Given the description of an element on the screen output the (x, y) to click on. 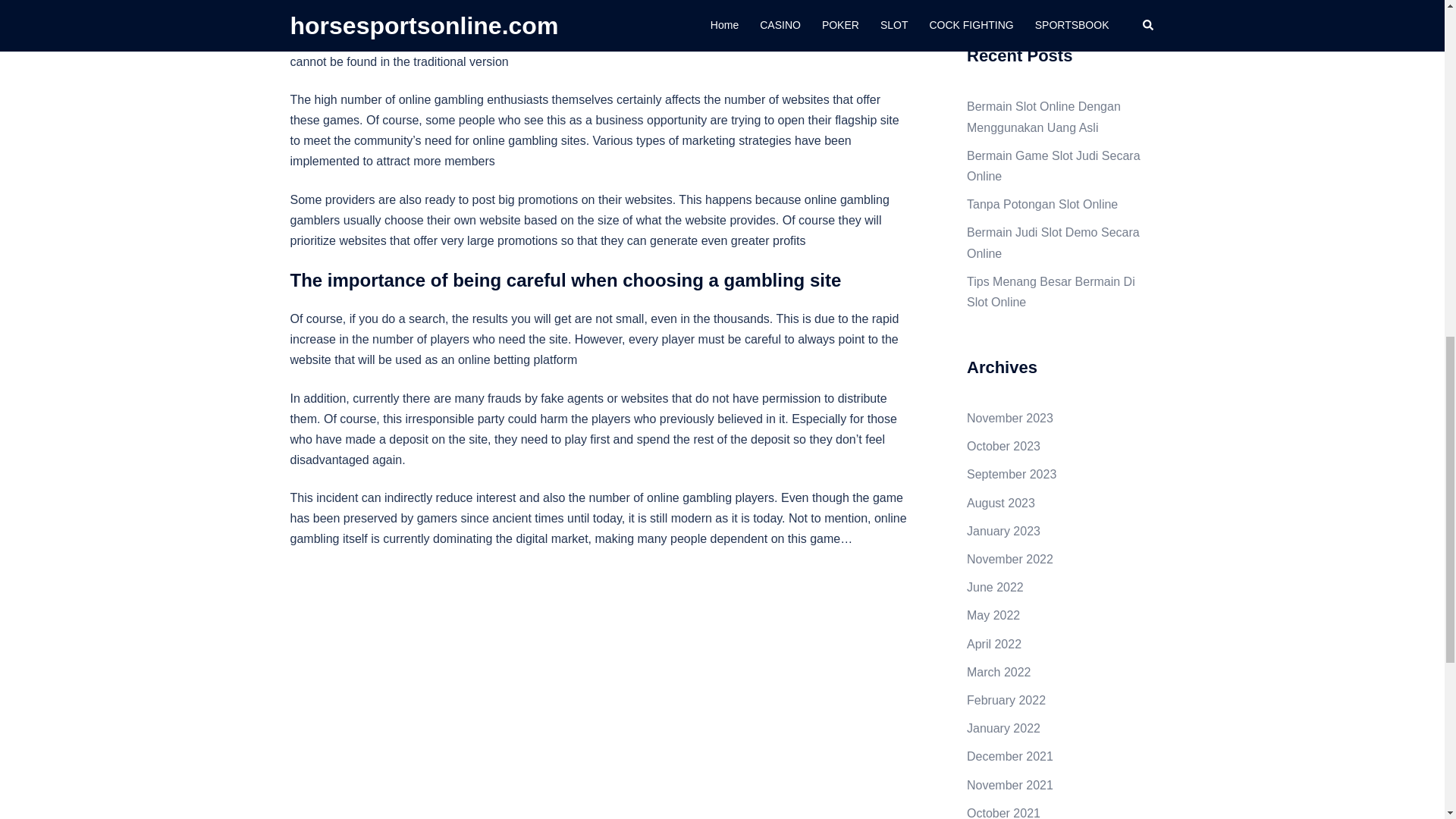
situs idn poker (569, 3)
